Given the description of an element on the screen output the (x, y) to click on. 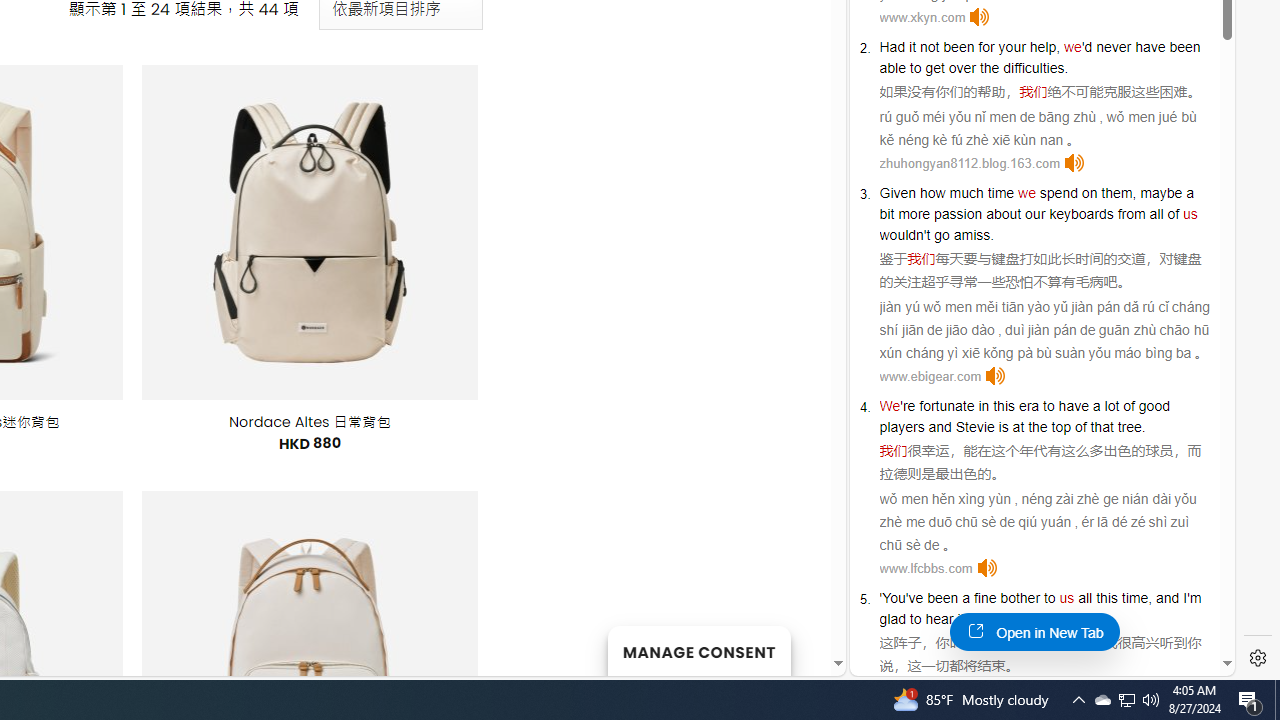
www.xkyn.com (922, 17)
